Given the description of an element on the screen output the (x, y) to click on. 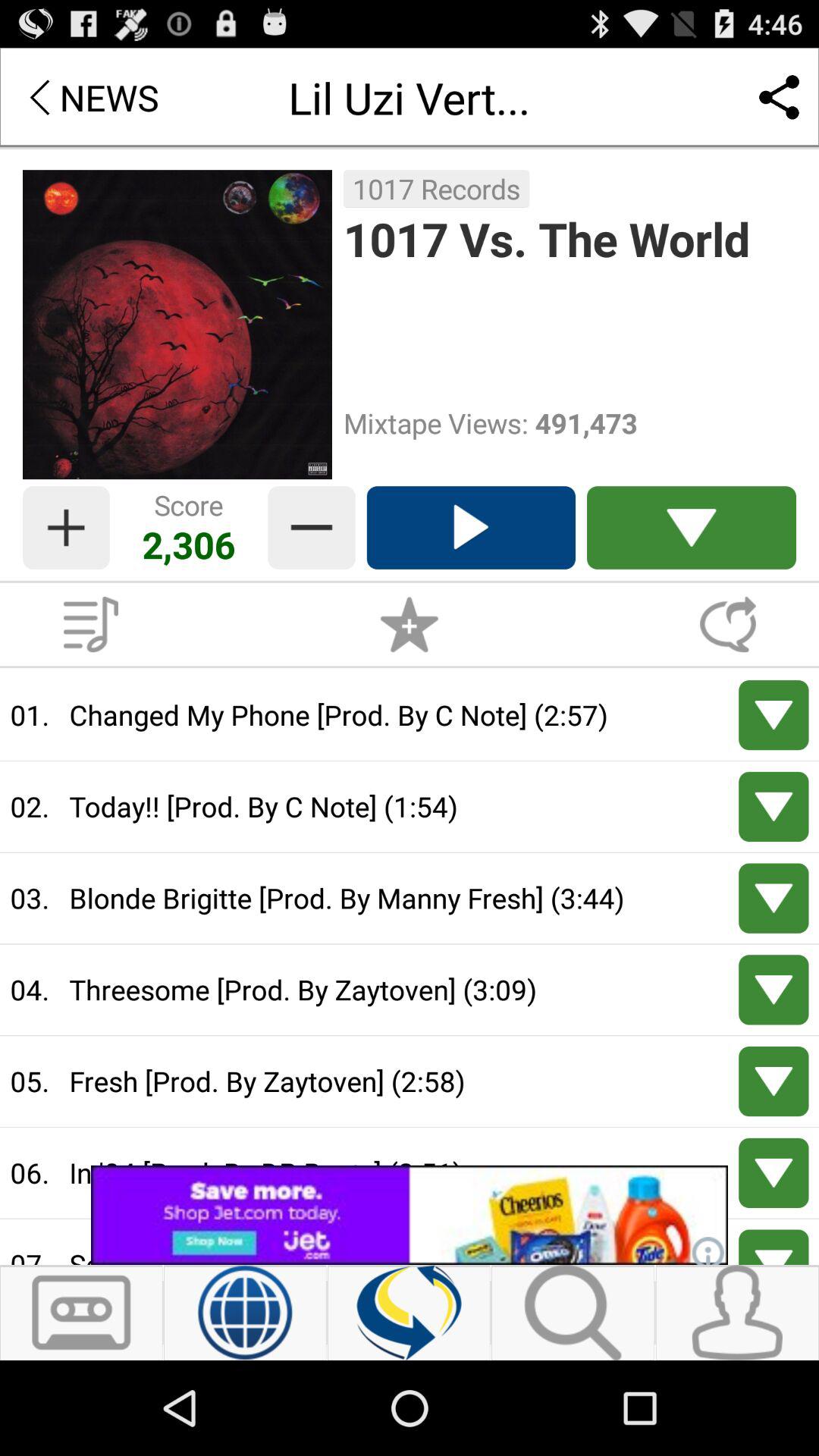
open album (91, 624)
